Given the description of an element on the screen output the (x, y) to click on. 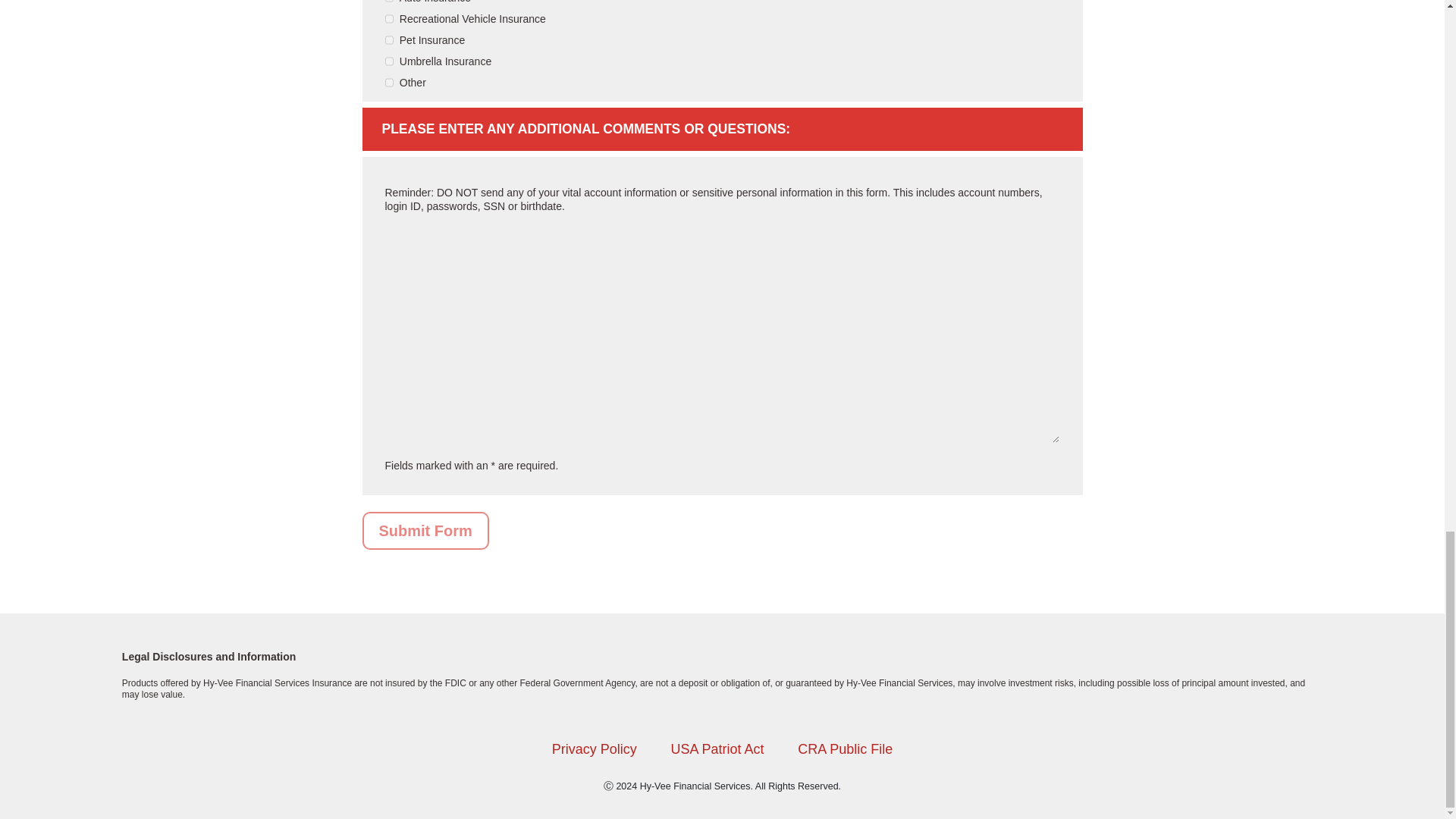
Recreational Vehicle Insurance (389, 18)
Submit Form (425, 530)
Other (389, 81)
Umbrella Insurance (389, 61)
Pet Insurance (389, 40)
